Given the description of an element on the screen output the (x, y) to click on. 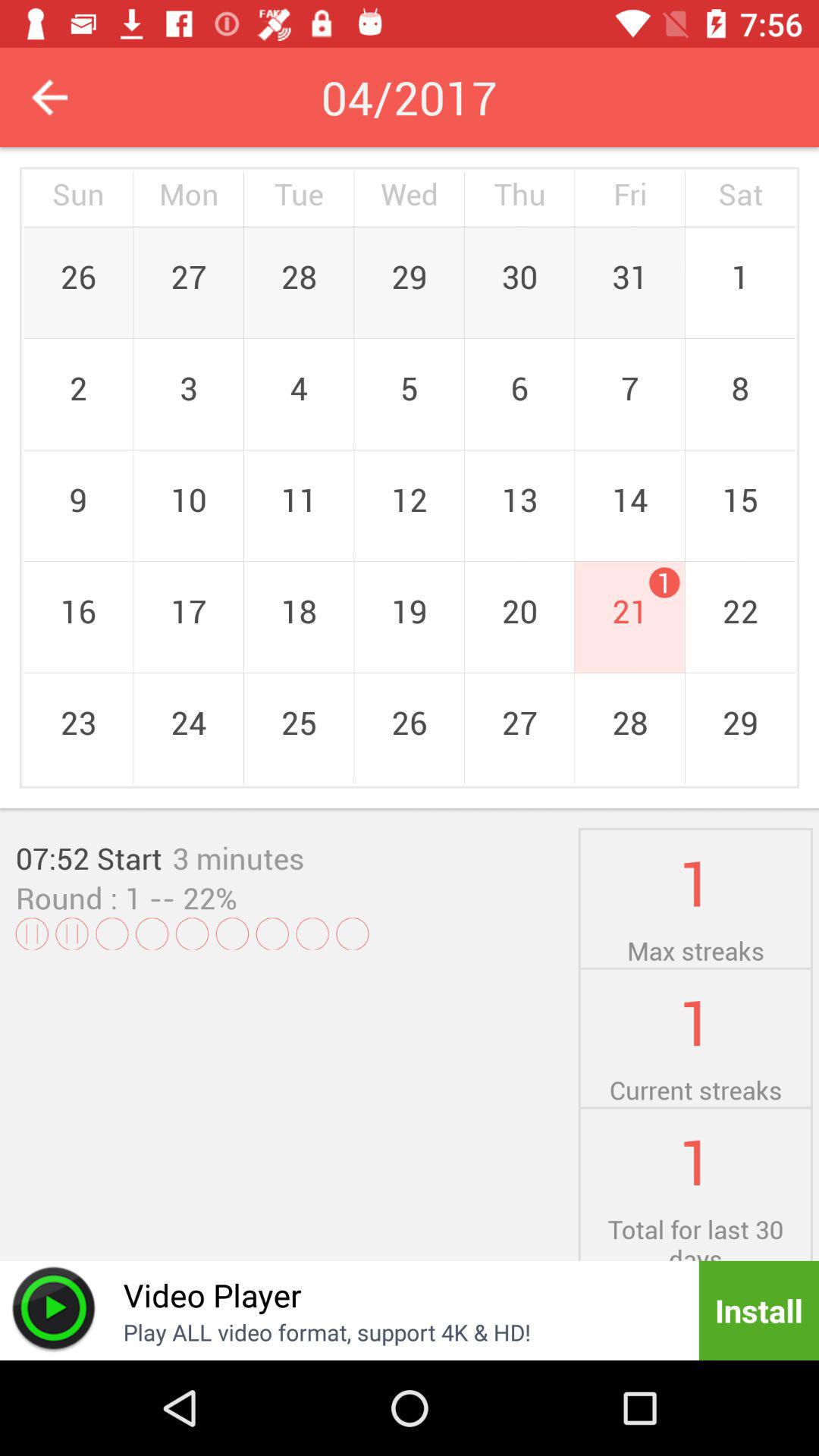
open the icon to the left of the 1 icon (238, 858)
